Given the description of an element on the screen output the (x, y) to click on. 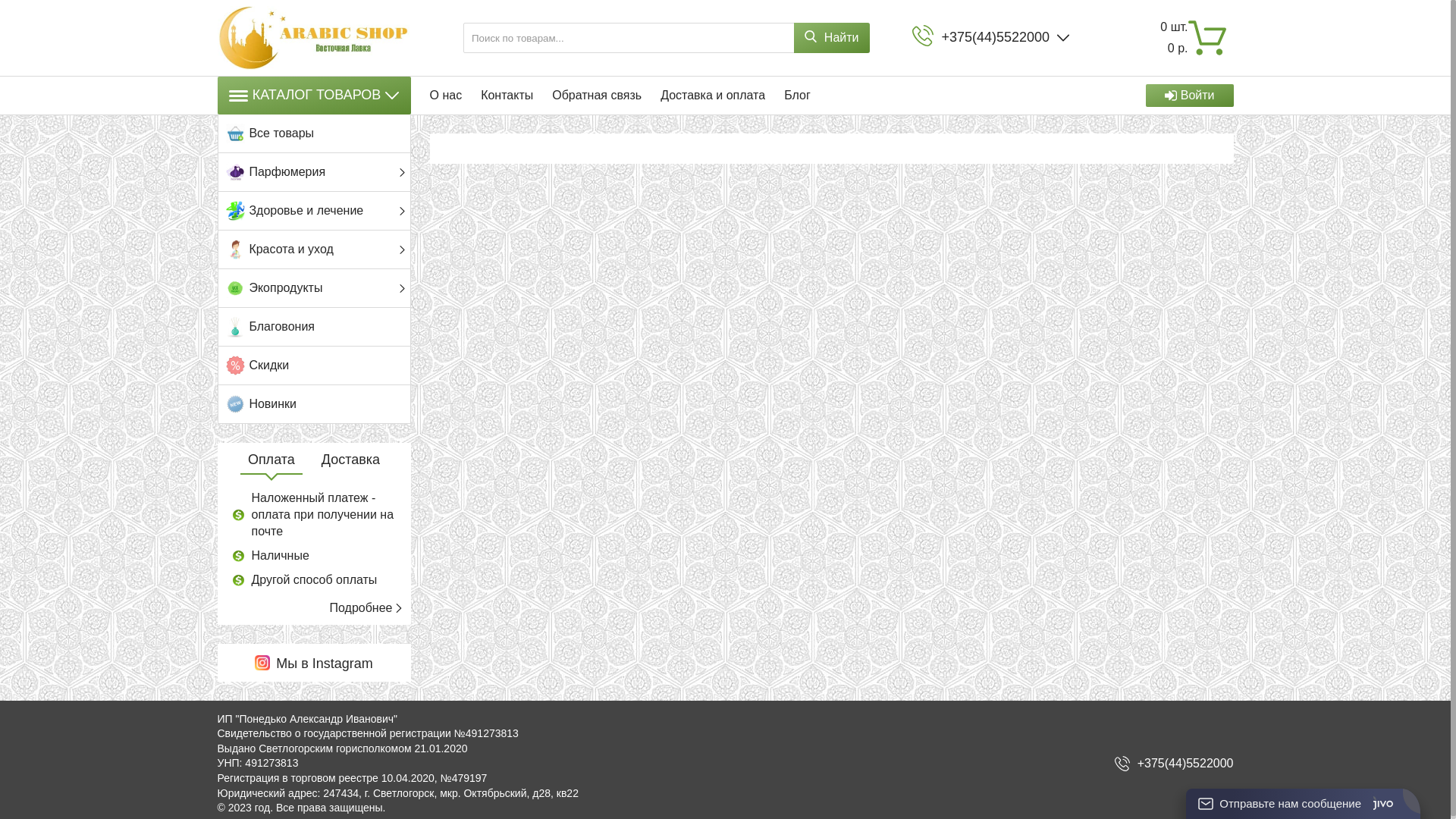
+375(44)5522000 Element type: text (1185, 763)
+375(44)5522000 Element type: text (995, 37)
